Given the description of an element on the screen output the (x, y) to click on. 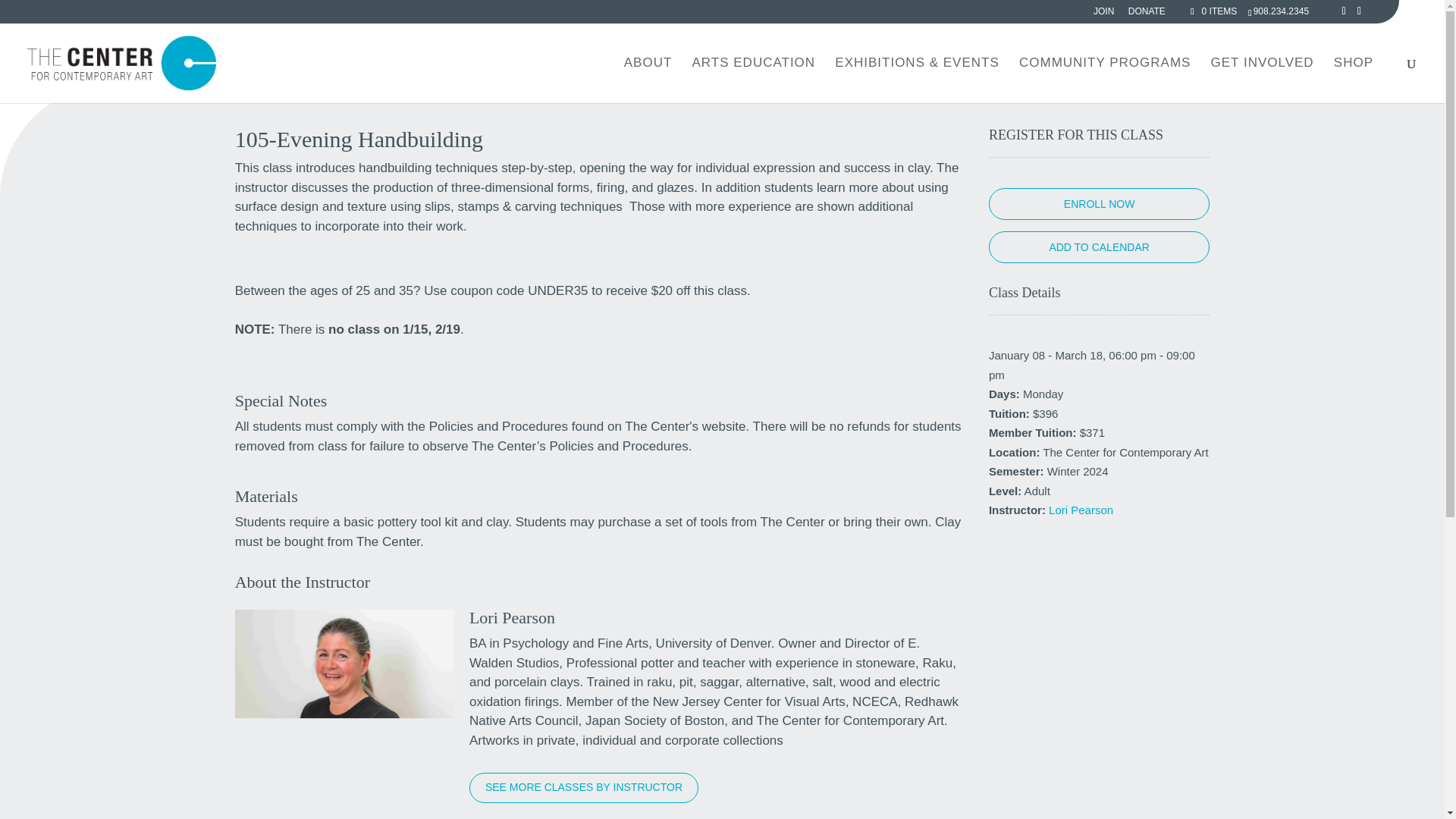
0 ITEMS (1212, 10)
ARTS EDUCATION (754, 80)
JOIN (1103, 14)
908.234.2345 (1280, 10)
DONATE (1147, 14)
ABOUT (648, 80)
COMMUNITY PROGRAMS (1105, 80)
Add to Calendar (1098, 246)
